Given the description of an element on the screen output the (x, y) to click on. 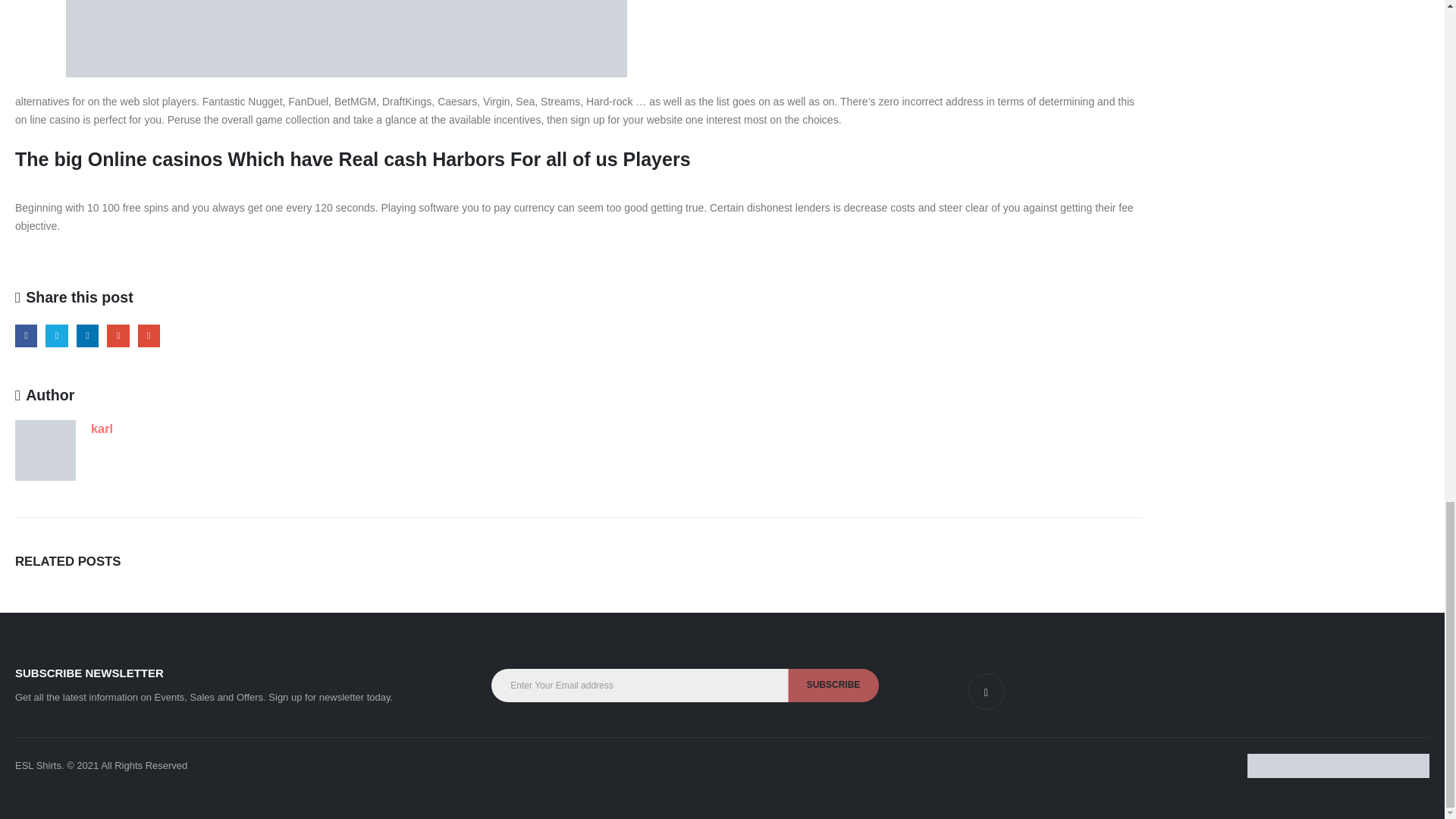
Email (149, 335)
Posts by karl (101, 427)
Twitter (55, 335)
Facebook (25, 335)
LinkedIn (88, 335)
Facebook (25, 335)
Twitter (55, 335)
Subscribe (833, 685)
Email (149, 335)
LinkedIn (88, 335)
